Given the description of an element on the screen output the (x, y) to click on. 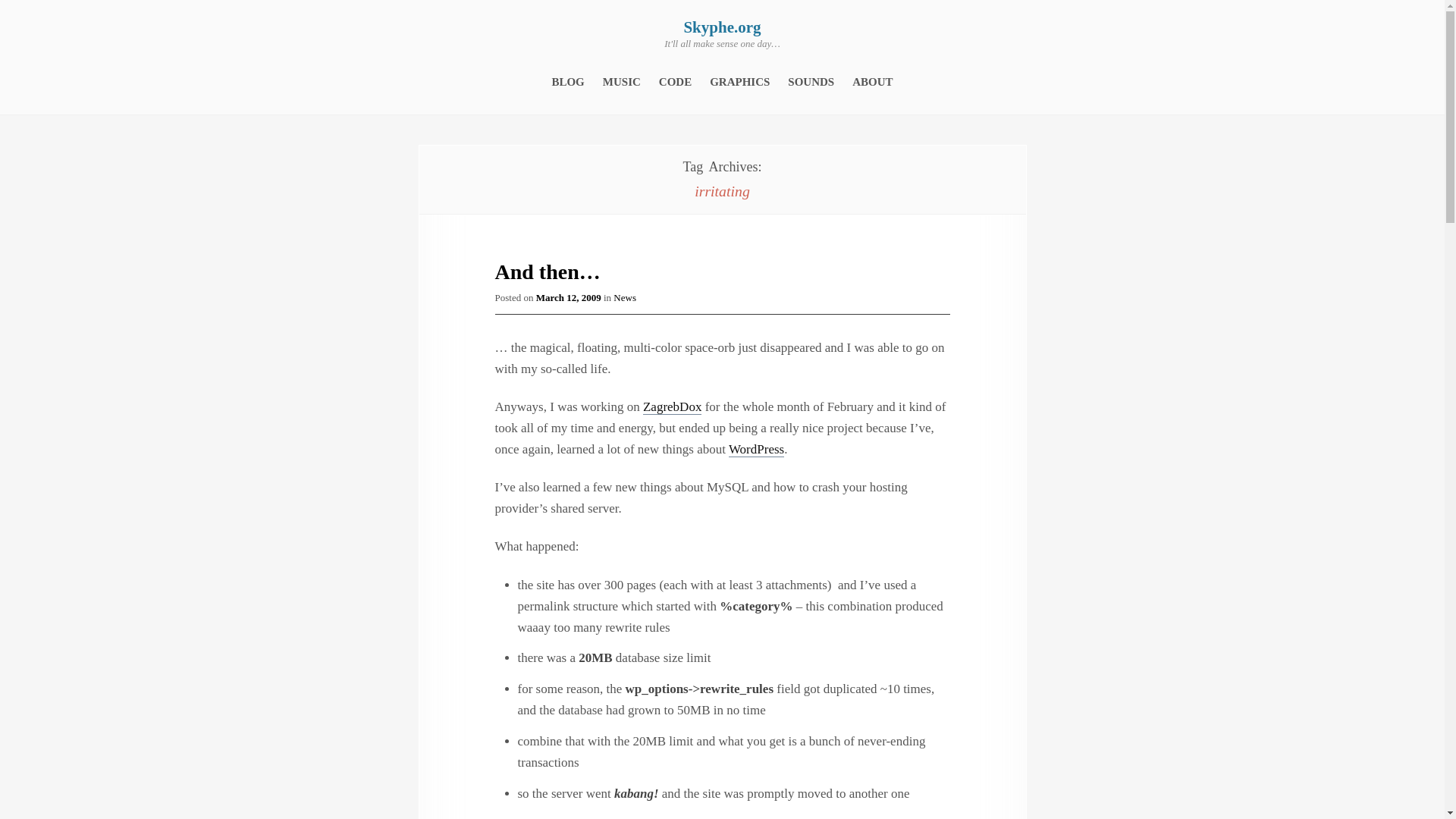
March 12, 2009 (568, 297)
BLOG (567, 81)
Skyphe.org (721, 27)
MUSIC (621, 81)
ABOUT (871, 81)
CODE (675, 81)
3:21 pm (568, 297)
News (624, 297)
WordPress (756, 449)
ZagrebDox (672, 406)
GRAPHICS (740, 81)
Skyphe.org (721, 27)
SOUNDS (810, 81)
